Given the description of an element on the screen output the (x, y) to click on. 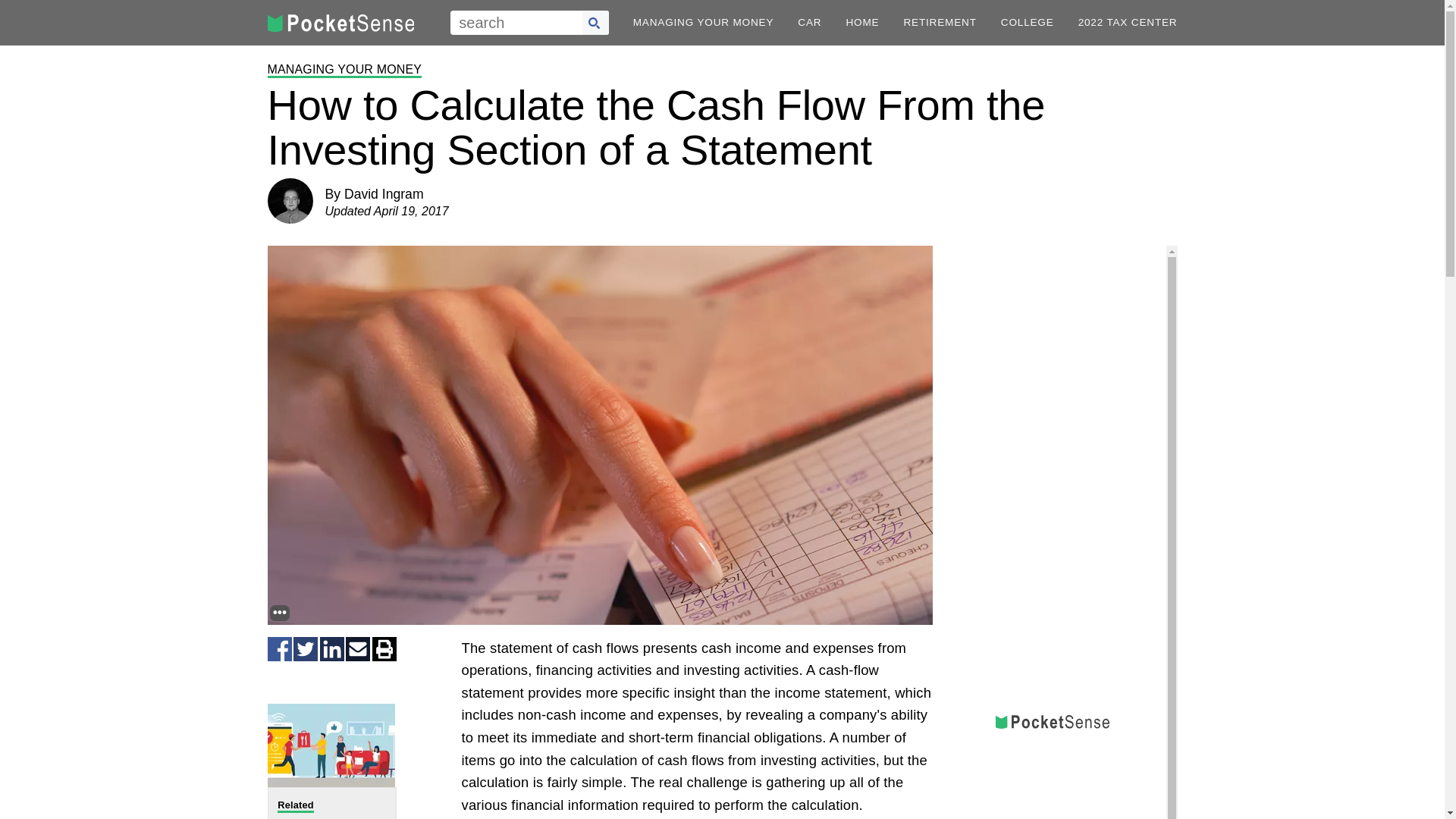
HOME (862, 22)
2022 TAX CENTER (1127, 22)
MANAGING YOUR MONEY (703, 22)
COLLEGE (1027, 22)
MANAGING YOUR MONEY (344, 70)
RETIREMENT (938, 22)
